Given the description of an element on the screen output the (x, y) to click on. 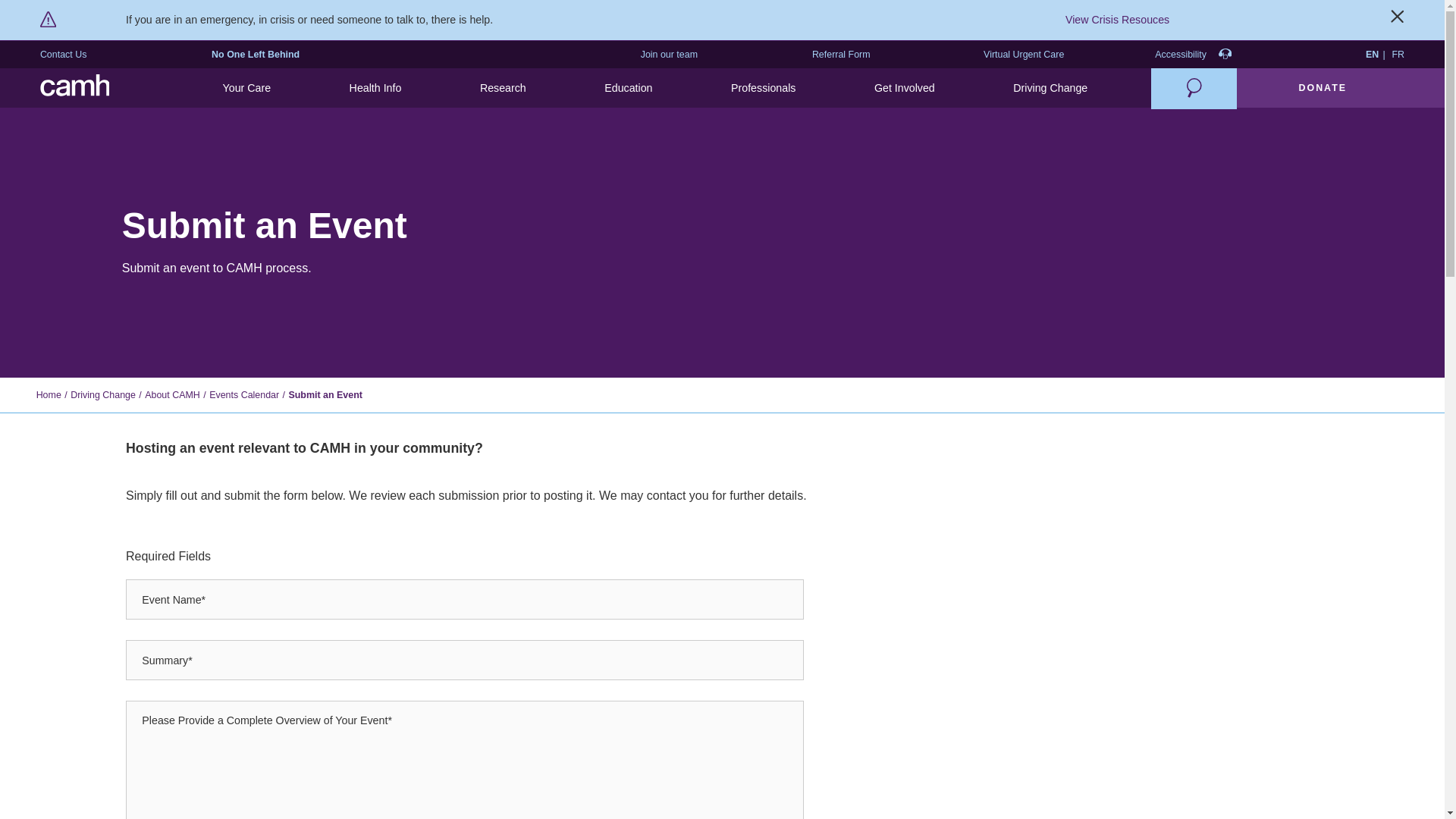
Accessibility (1192, 53)
No One Left Behind (255, 53)
View Crisis Resouces (1117, 20)
Referral Form (841, 53)
Your Care (246, 87)
Join our team (668, 53)
CAMH logo (75, 88)
Contact Us (63, 53)
Virtual Urgent Care (1024, 53)
